Given the description of an element on the screen output the (x, y) to click on. 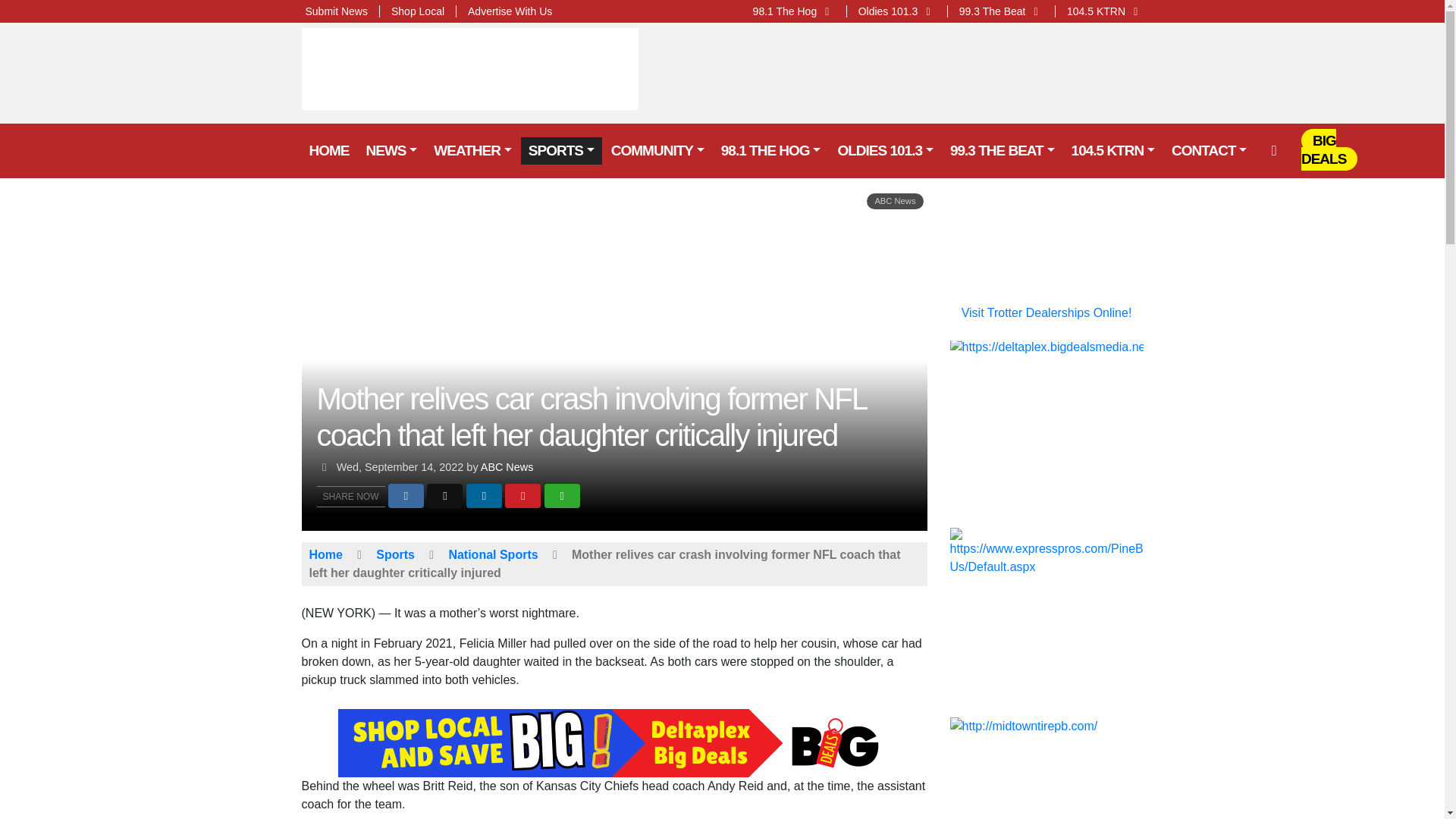
Share to LinkedIn (483, 496)
Share to X (444, 496)
Share to Facebook (405, 496)
Posts by ABC News (507, 467)
Share to Pinterest (522, 496)
